Given the description of an element on the screen output the (x, y) to click on. 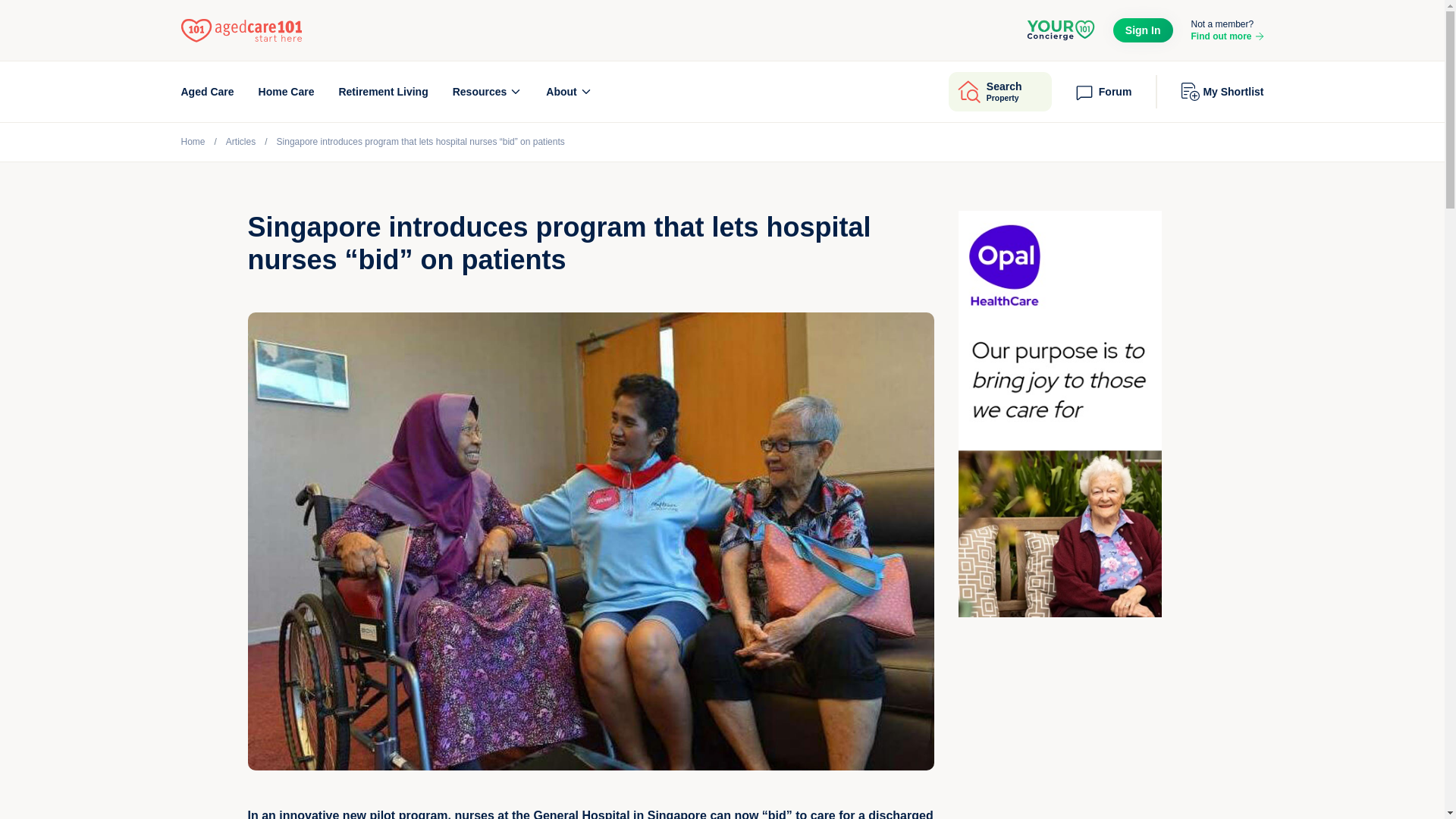
Retirement Living (382, 91)
About (568, 91)
Aged Care (206, 91)
Home Care (286, 91)
Sign In (1000, 91)
Find out more (1143, 30)
